Given the description of an element on the screen output the (x, y) to click on. 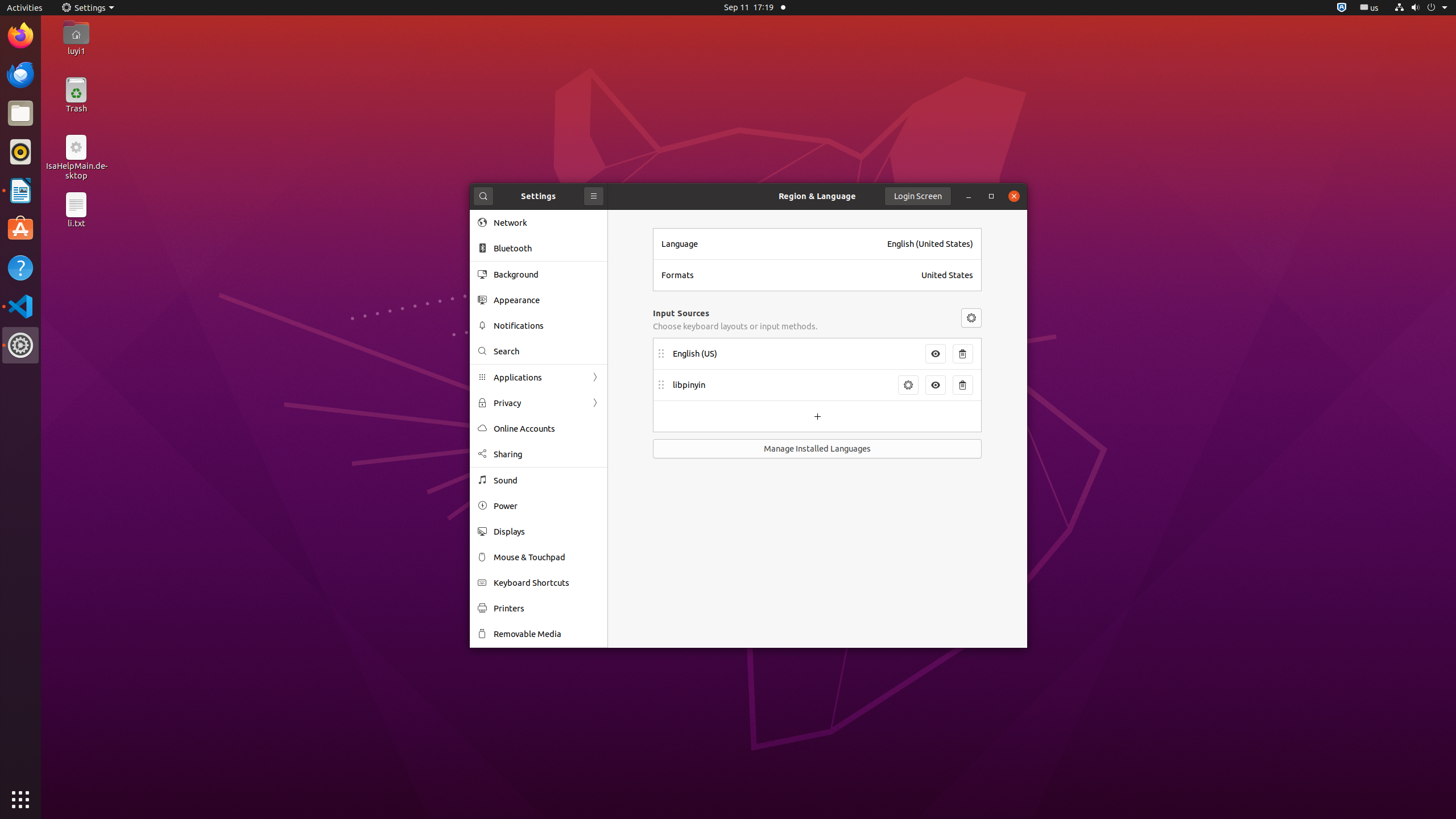
Power Element type: label (546, 505)
Region & Language Element type: label (816, 195)
English (US) Element type: label (795, 353)
Printers Element type: label (546, 608)
Notifications Element type: label (546, 325)
